Given the description of an element on the screen output the (x, y) to click on. 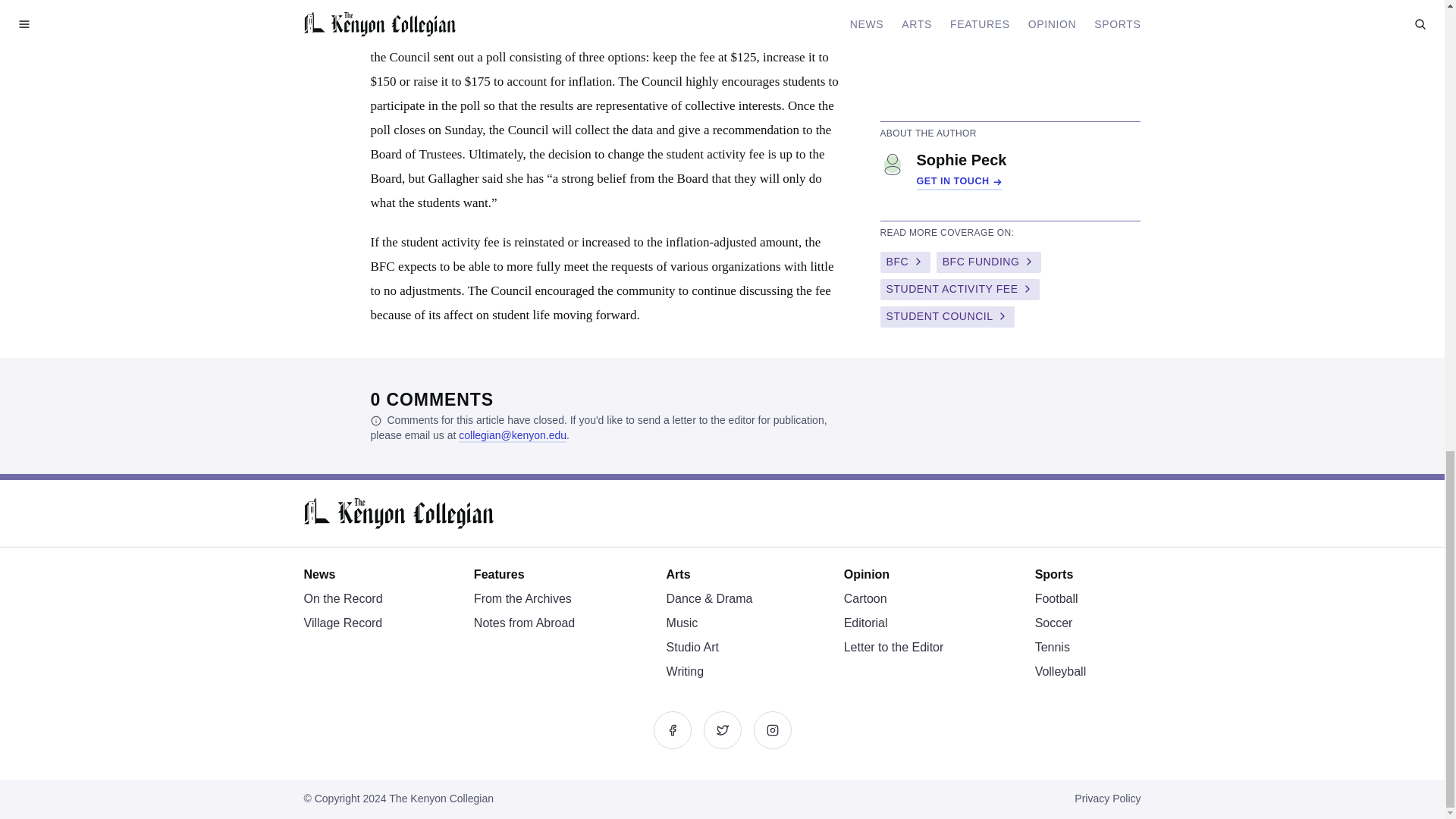
GET IN TOUCH (958, 182)
Village Record (341, 622)
From the Archives (523, 598)
BFC FUNDING (988, 261)
On the Record (341, 598)
STUDENT ACTIVITY FEE (959, 289)
Features (499, 574)
STUDENT COUNCIL (946, 316)
News (318, 574)
BFC (904, 261)
